Given the description of an element on the screen output the (x, y) to click on. 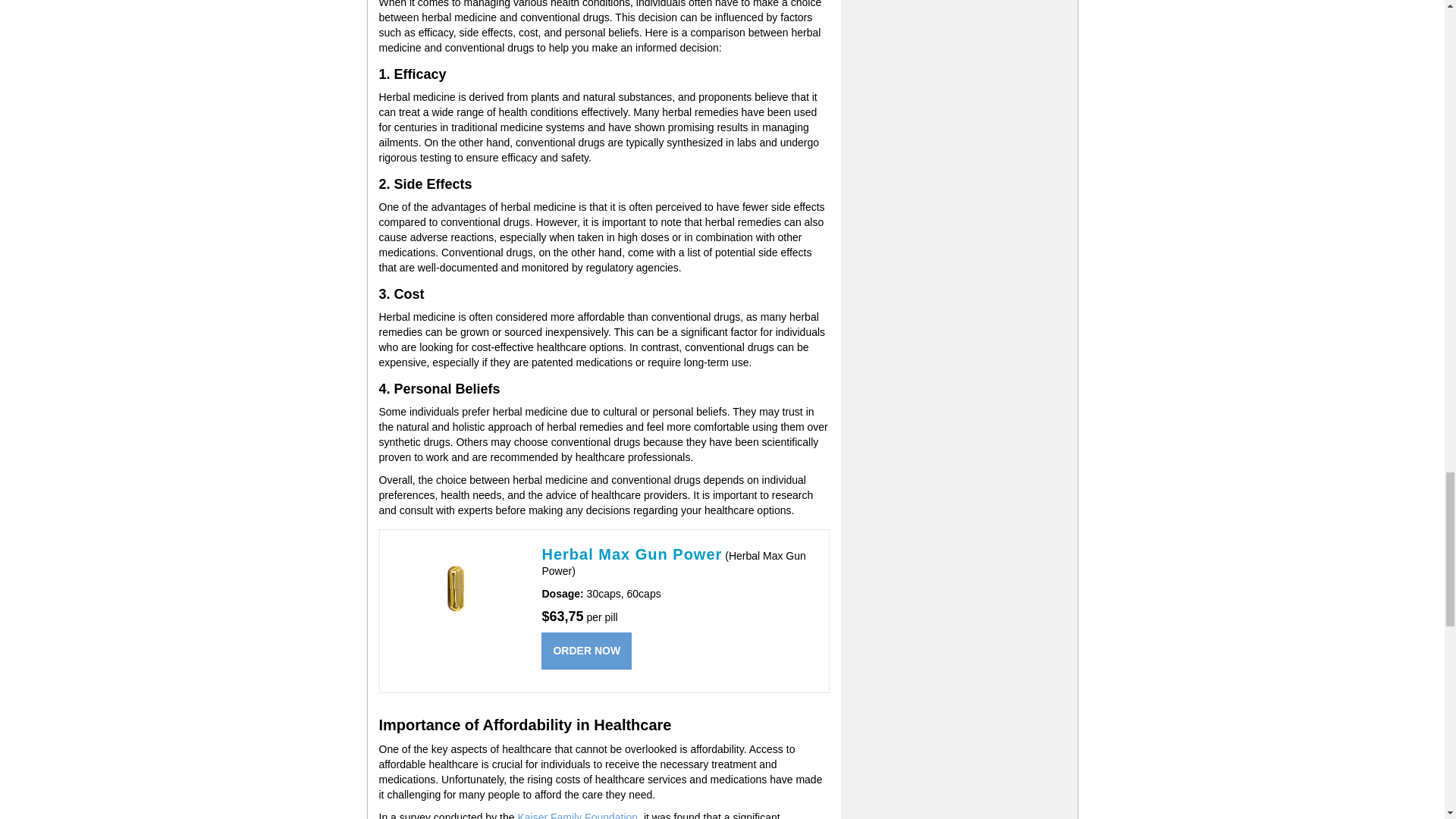
ORDER NOW (586, 650)
Kaiser Family Foundation (576, 815)
